Given the description of an element on the screen output the (x, y) to click on. 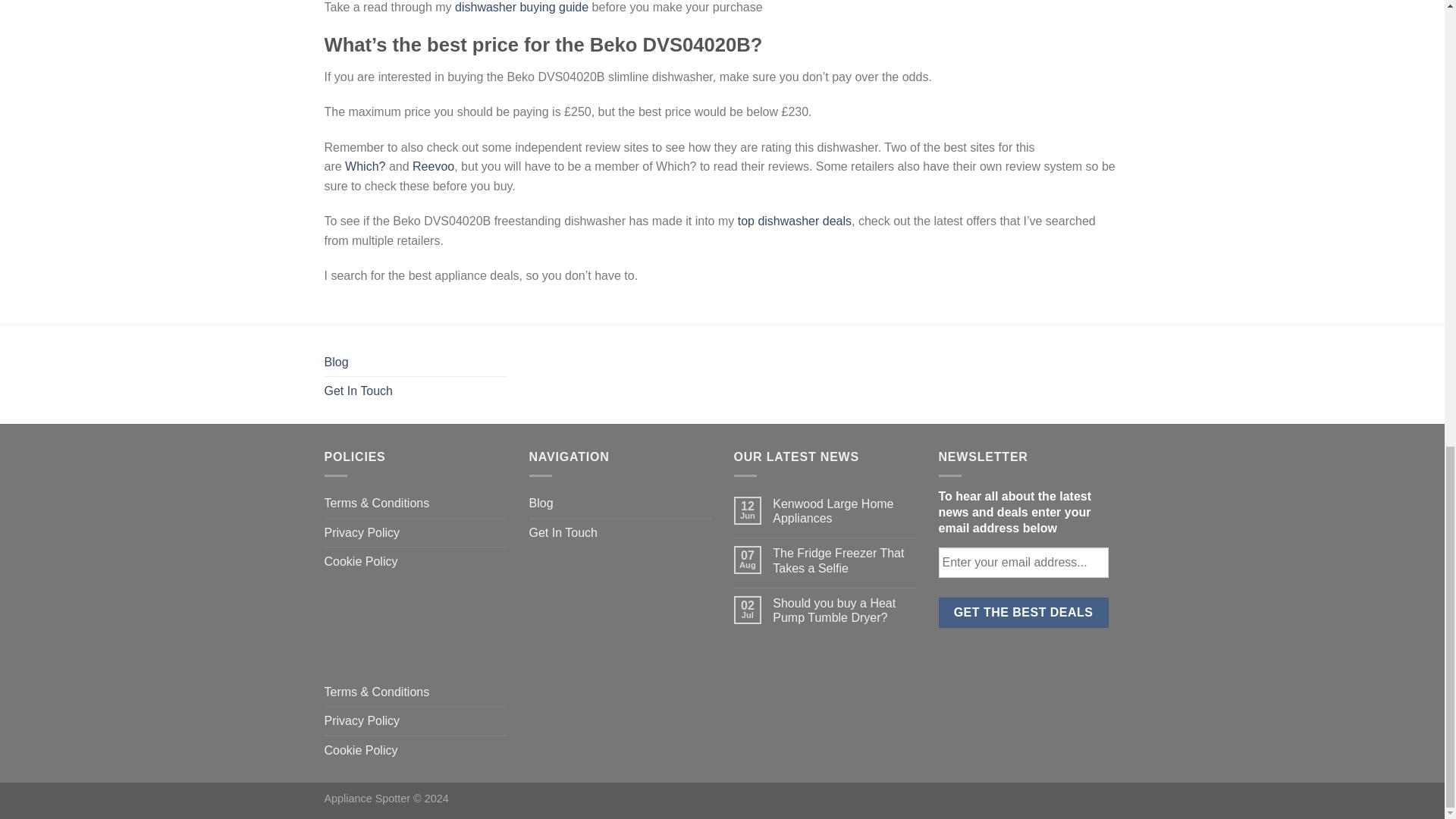
The Fridge Freezer That Takes a Selfie (844, 560)
Kenwood Large Home Appliances (844, 510)
Get the Best Deals (1023, 612)
Should you buy a Heat Pump Tumble Dryer? (844, 610)
